Given the description of an element on the screen output the (x, y) to click on. 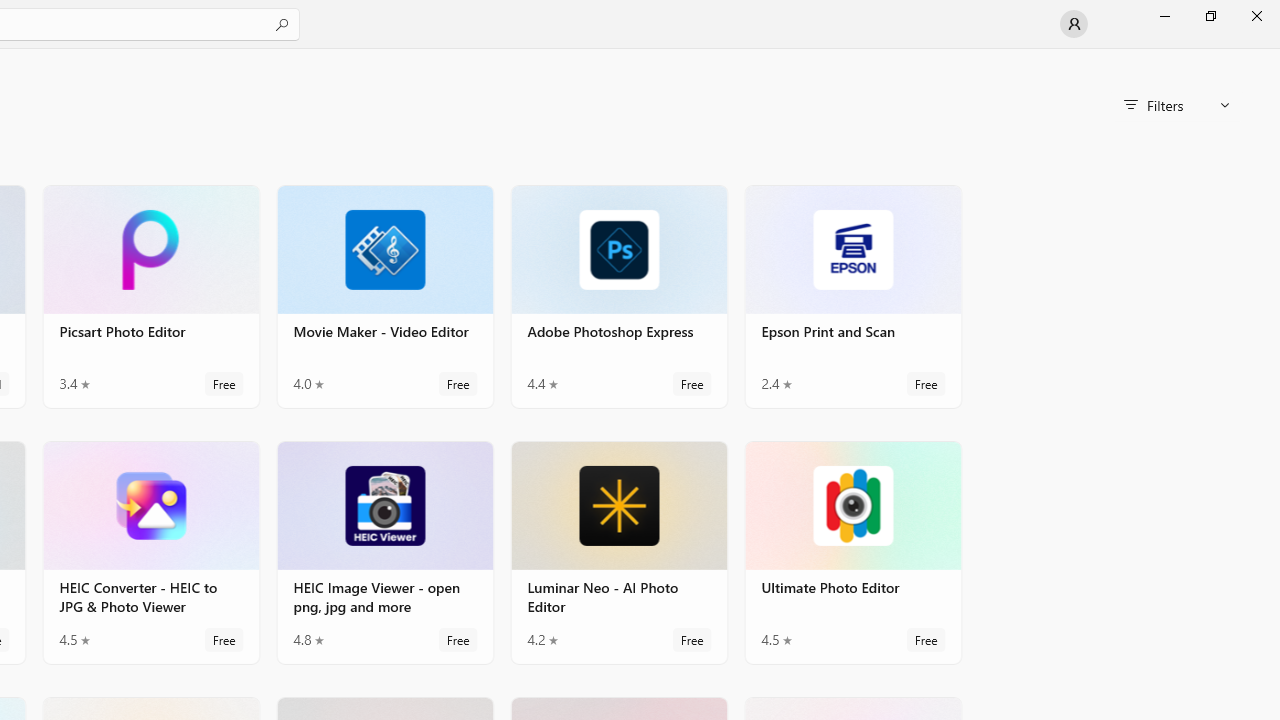
Filters (1176, 105)
